Given the description of an element on the screen output the (x, y) to click on. 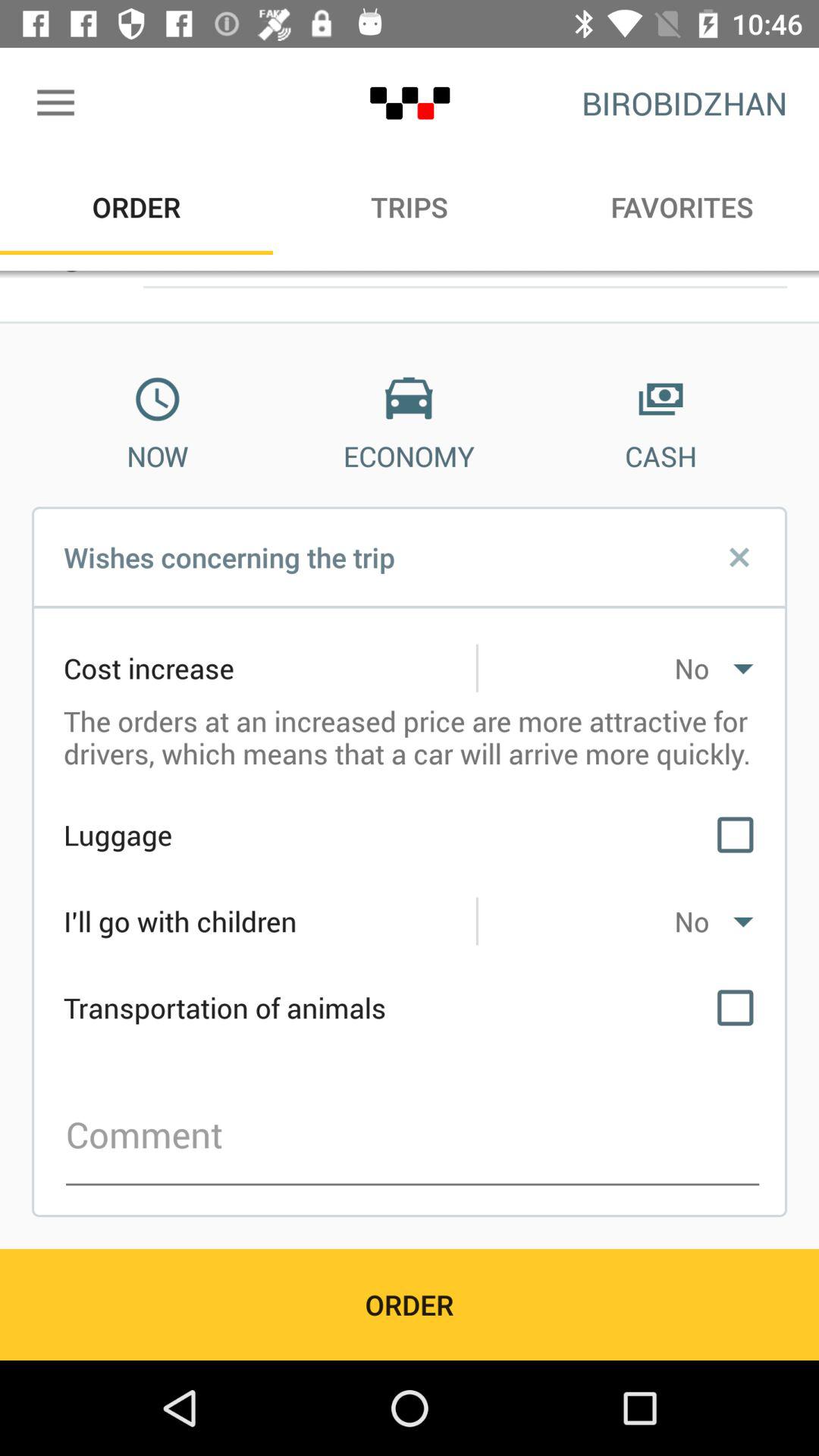
select the item above favorites item (684, 102)
